Given the description of an element on the screen output the (x, y) to click on. 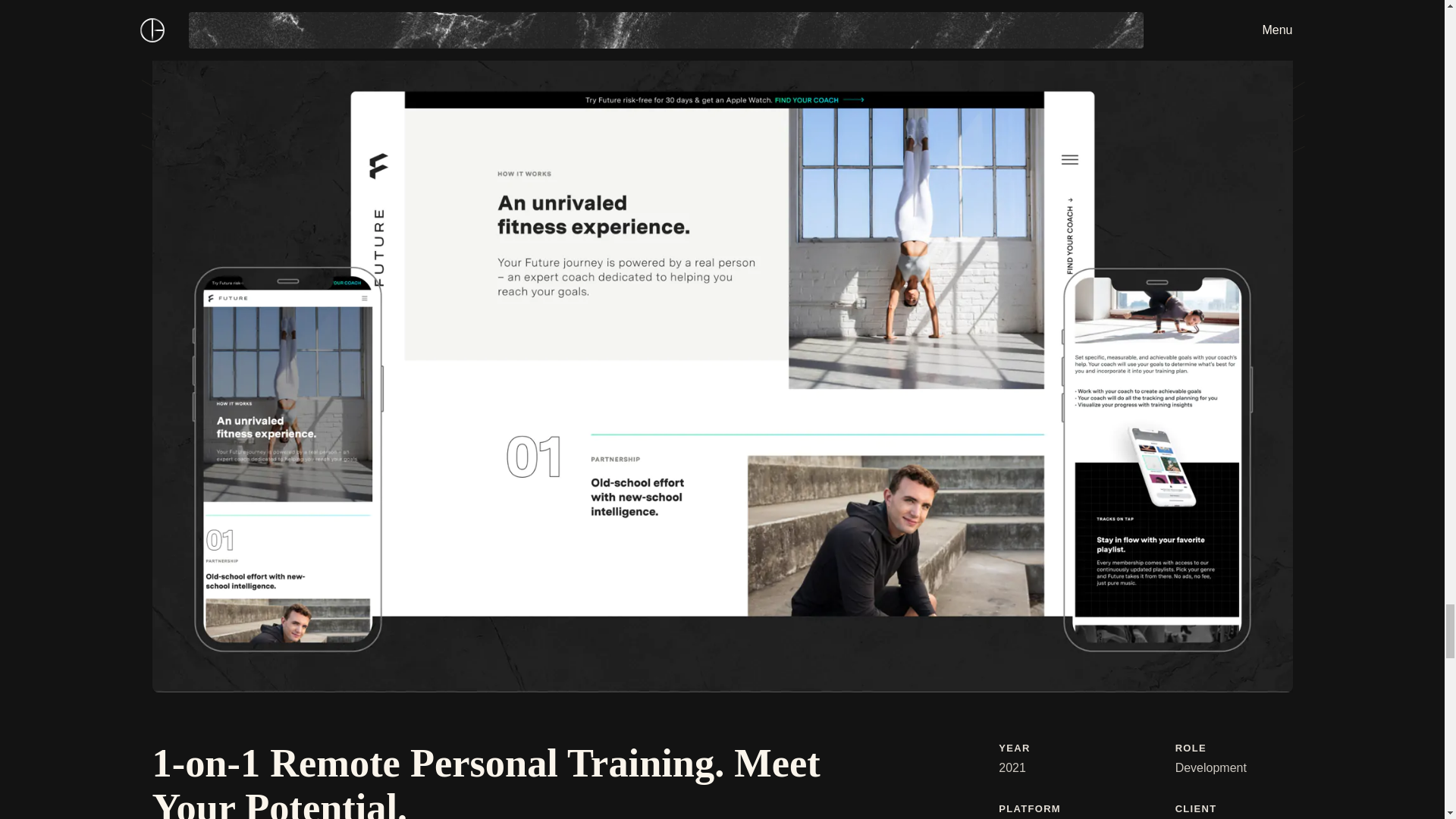
View Project: Future (1267, 2)
